Given the description of an element on the screen output the (x, y) to click on. 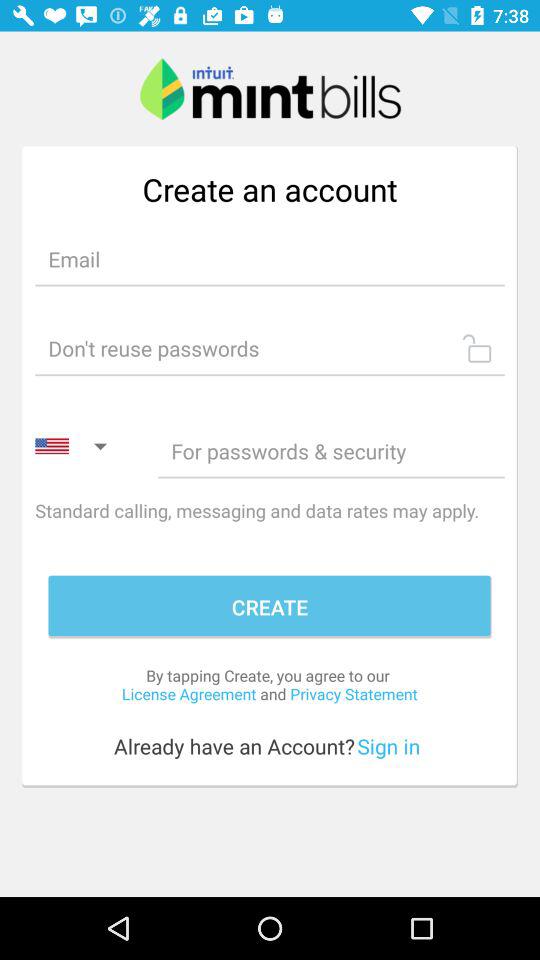
type password (331, 450)
